Given the description of an element on the screen output the (x, y) to click on. 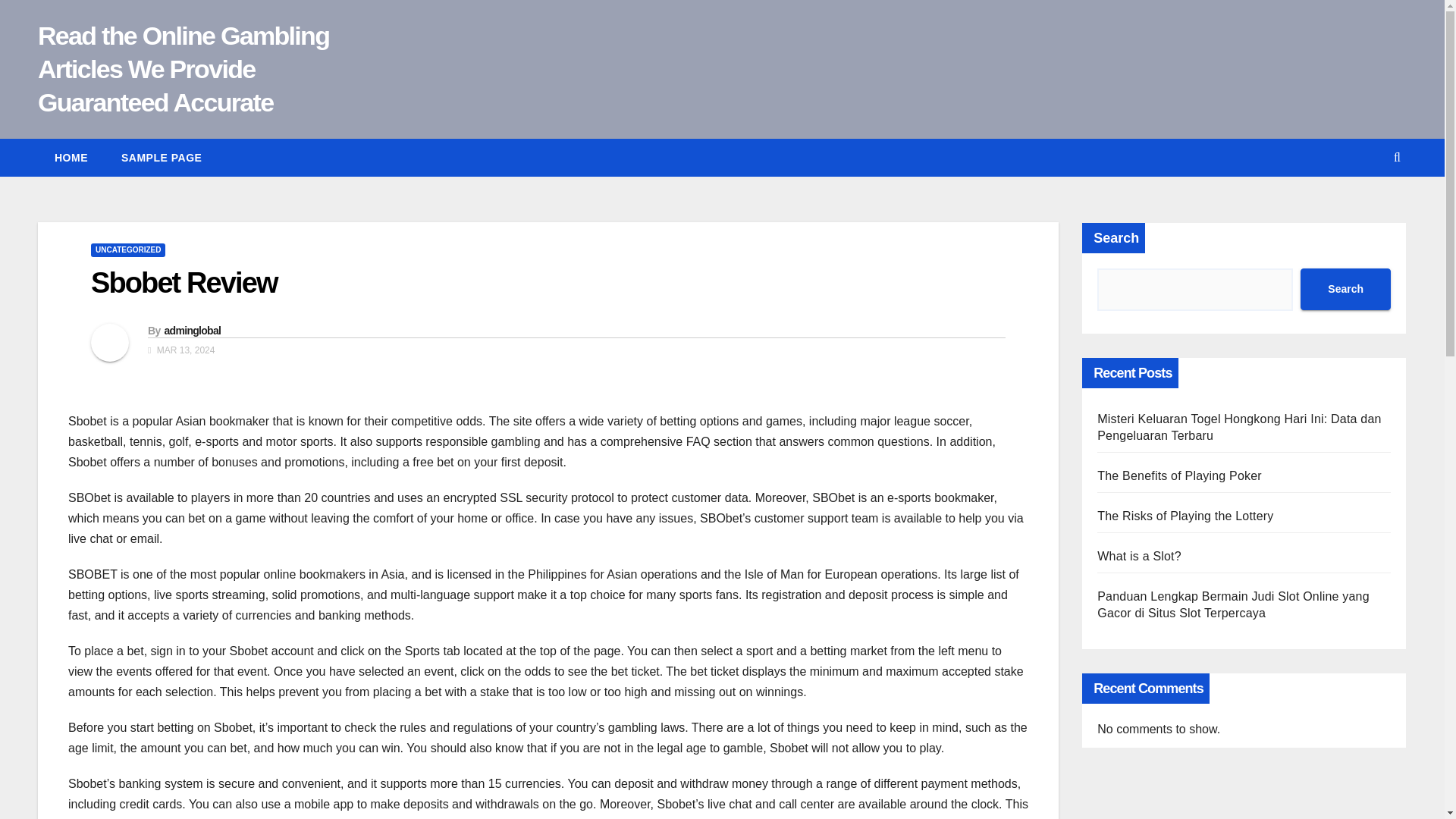
Permalink to: Sbobet Review (184, 282)
SAMPLE PAGE (161, 157)
Home (70, 157)
Sbobet Review (184, 282)
The Risks of Playing the Lottery (1184, 515)
HOME (70, 157)
The Benefits of Playing Poker (1179, 475)
adminglobal (192, 330)
UNCATEGORIZED (127, 250)
Search (1345, 289)
What is a Slot? (1138, 555)
